Given the description of an element on the screen output the (x, y) to click on. 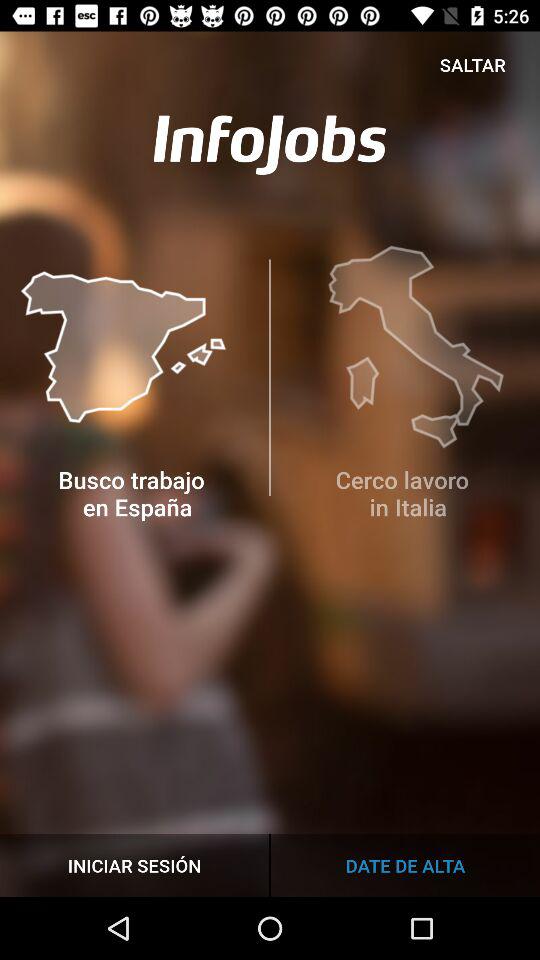
launch item below the busco trabajo en (405, 864)
